Given the description of an element on the screen output the (x, y) to click on. 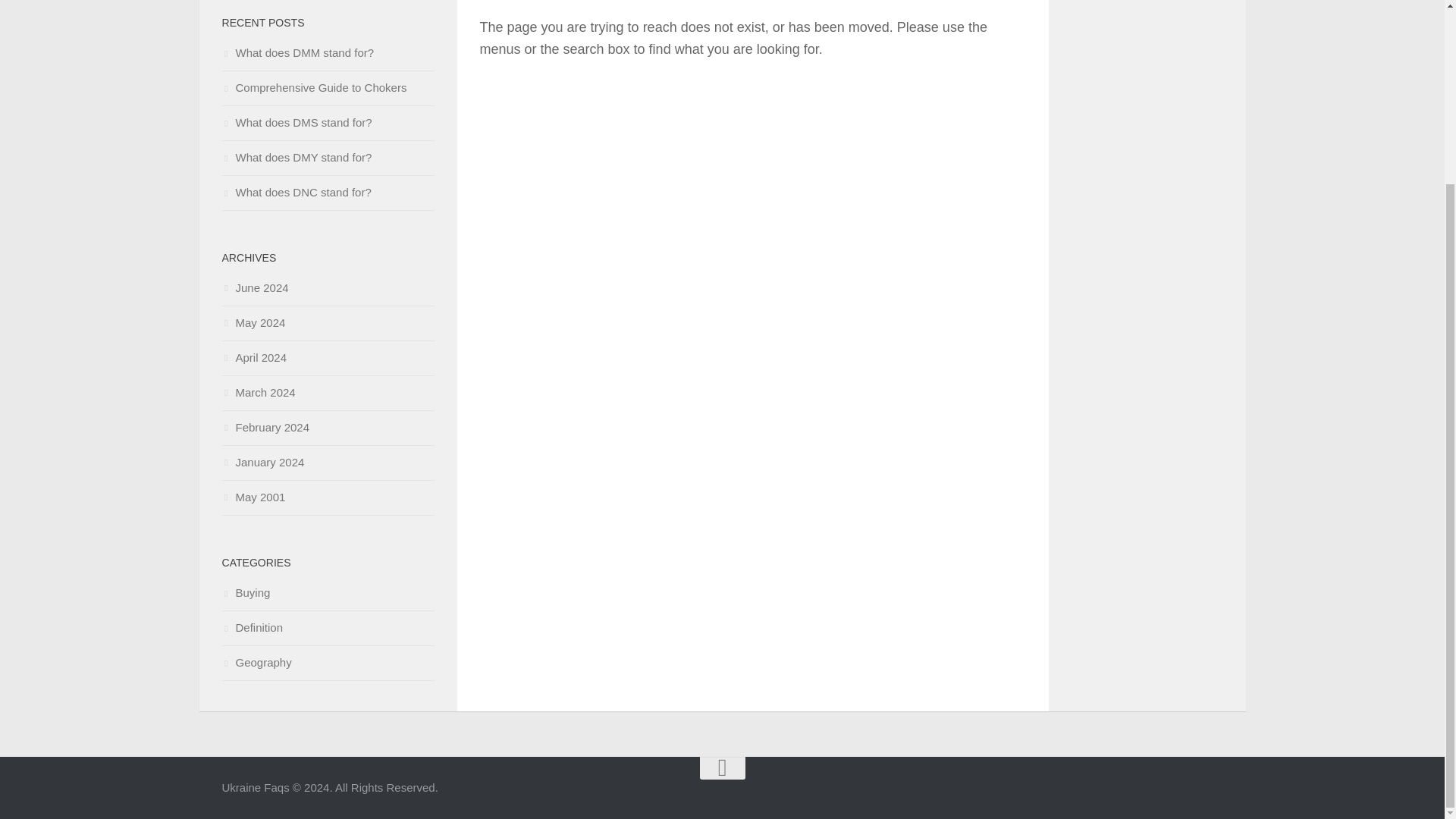
What does DMM stand for? (297, 51)
Definition (251, 626)
Buying (245, 592)
May 2001 (253, 496)
What does DMY stand for? (296, 156)
Geography (256, 662)
June 2024 (254, 287)
What does DNC stand for? (296, 192)
March 2024 (258, 391)
February 2024 (264, 427)
April 2024 (253, 357)
Comprehensive Guide to Chokers (313, 87)
January 2024 (262, 461)
What does DMS stand for? (296, 122)
May 2024 (253, 322)
